Given the description of an element on the screen output the (x, y) to click on. 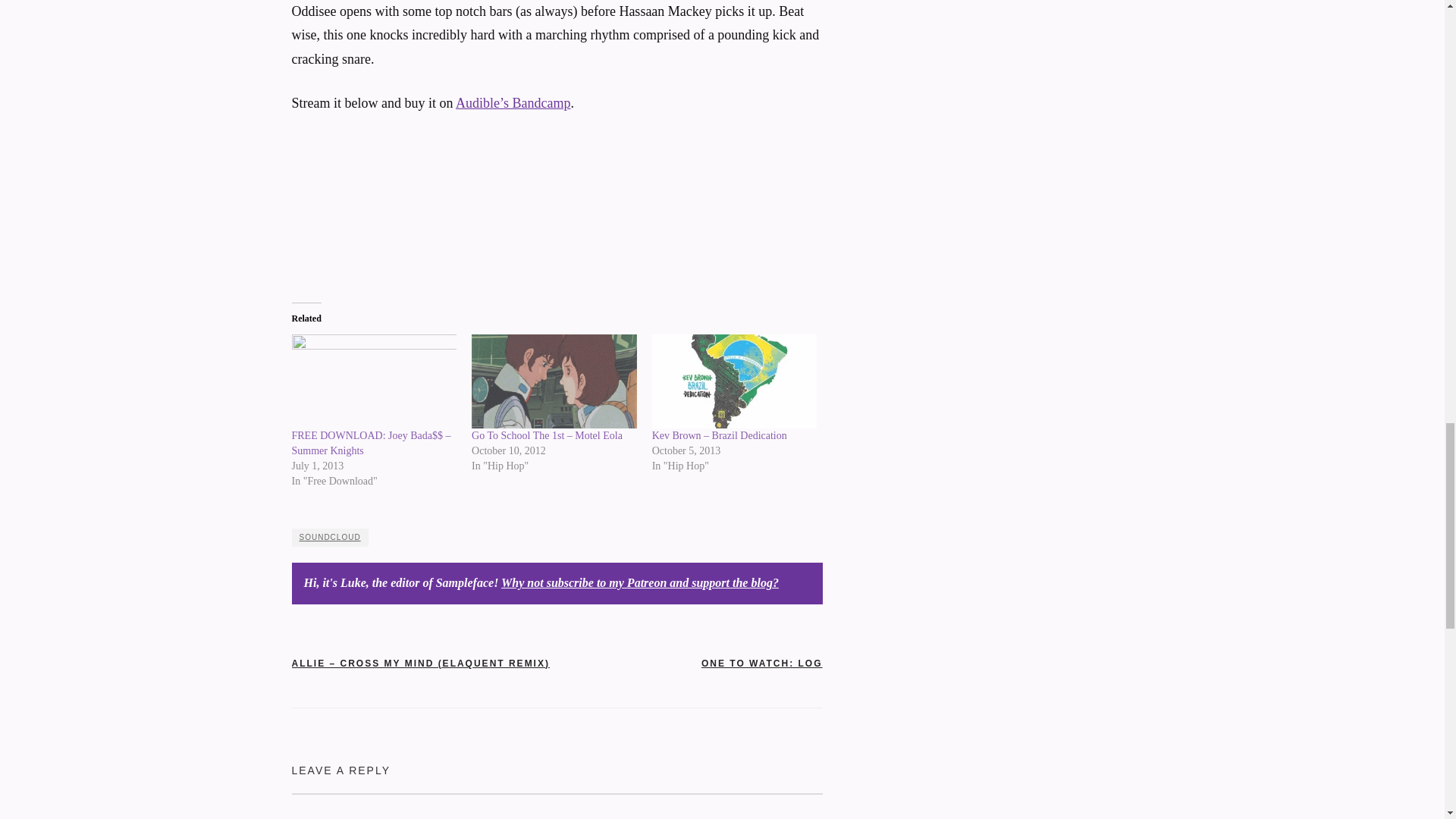
Comment Form (556, 806)
ONE TO WATCH: LOG (761, 663)
Why not subscribe to my Patreon and support the blog? (639, 582)
SOUNDCLOUD (329, 537)
